Given the description of an element on the screen output the (x, y) to click on. 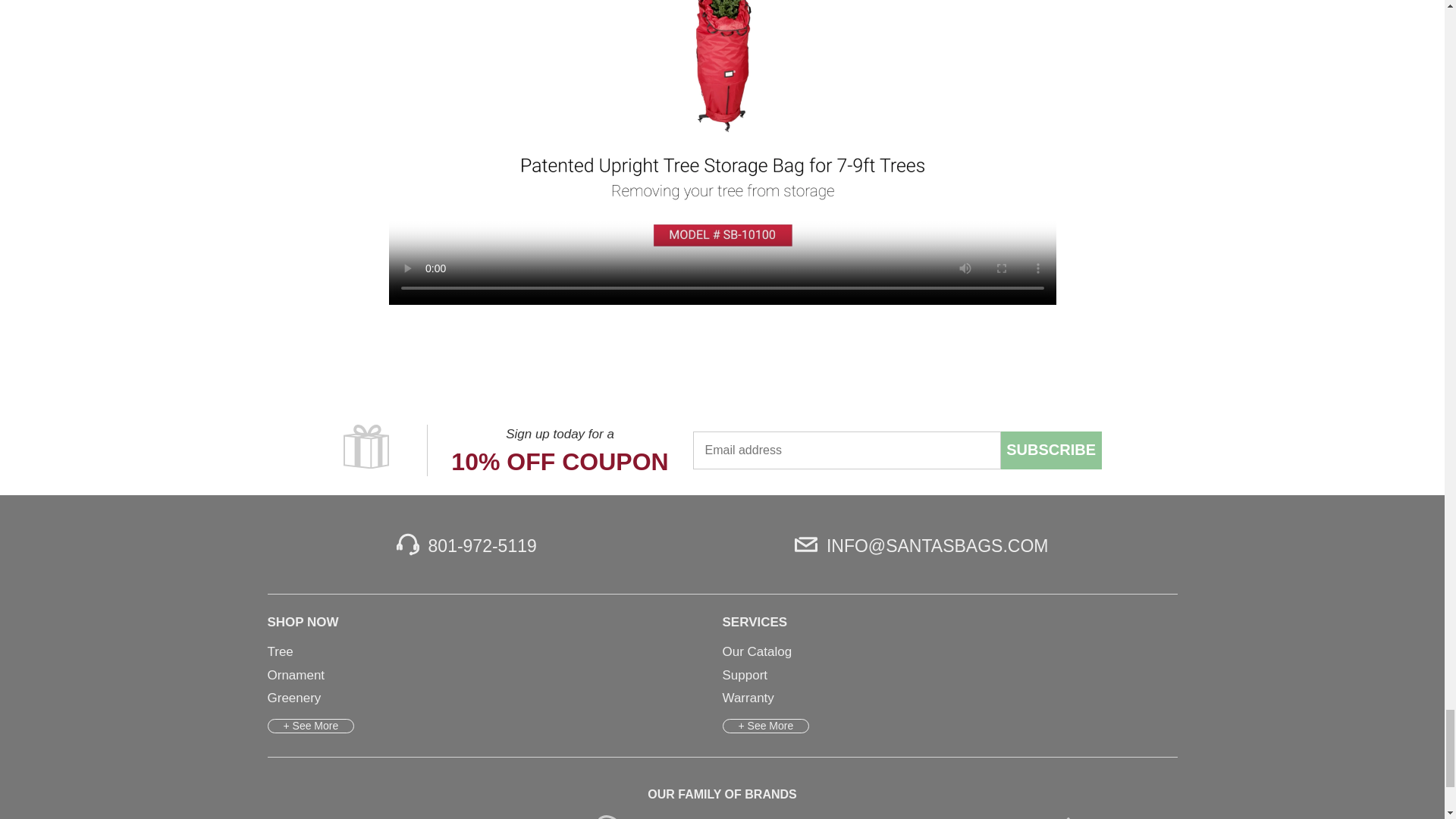
Greenery (293, 698)
Subscribe (1051, 450)
Subscribe (1051, 450)
Support (744, 675)
Ornament (295, 675)
801-972-5119 (466, 544)
Tree (279, 651)
Warranty (747, 698)
Our Catalog (757, 651)
